Given the description of an element on the screen output the (x, y) to click on. 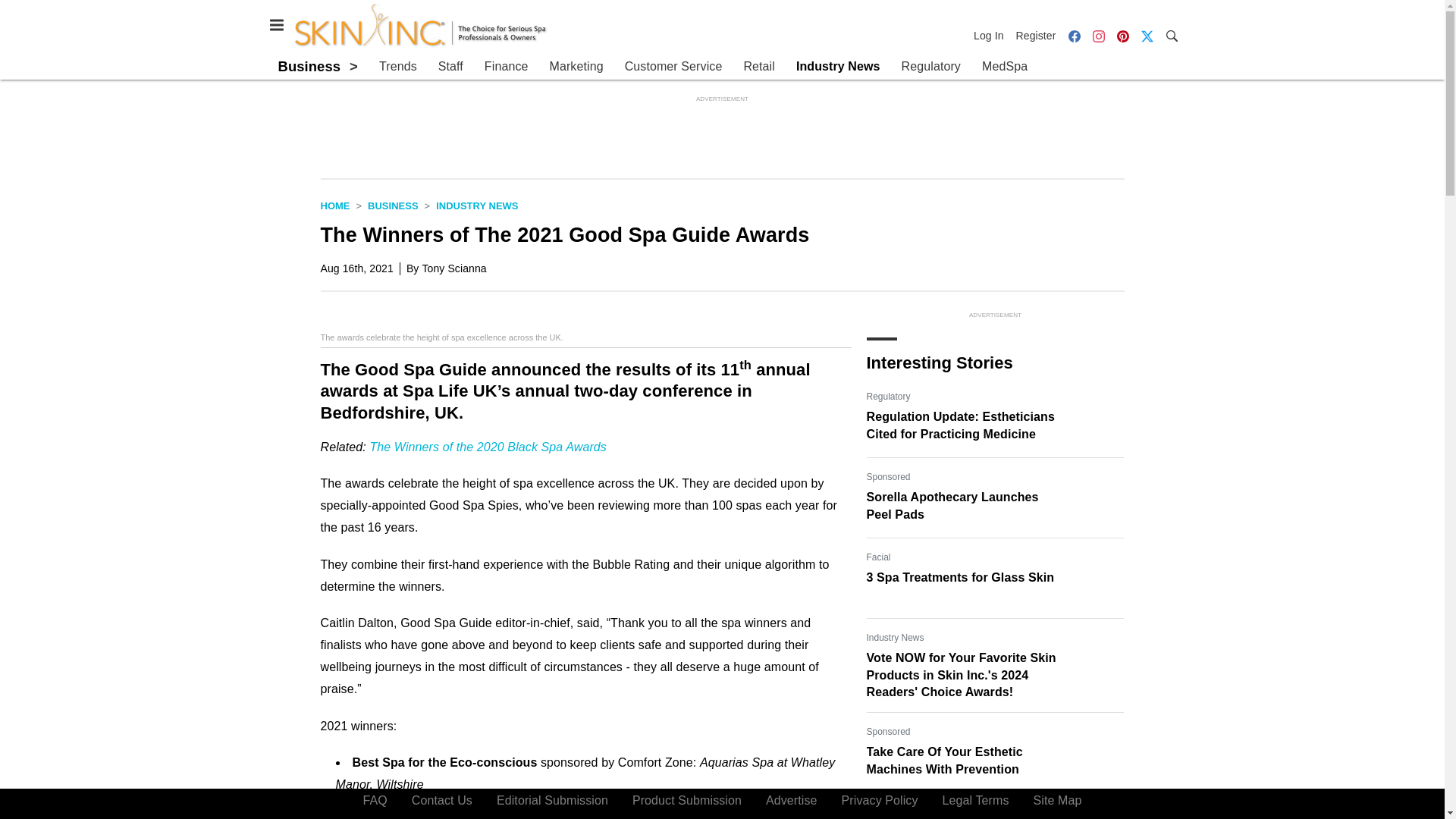
Pinterest icon (1122, 36)
Sponsored (888, 476)
Industry News (476, 205)
Trends (397, 66)
Finance (506, 66)
Search (1170, 34)
Pinterest icon (1121, 35)
Marketing (575, 66)
Facebook icon (1073, 36)
Facebook icon (1073, 35)
